Given the description of an element on the screen output the (x, y) to click on. 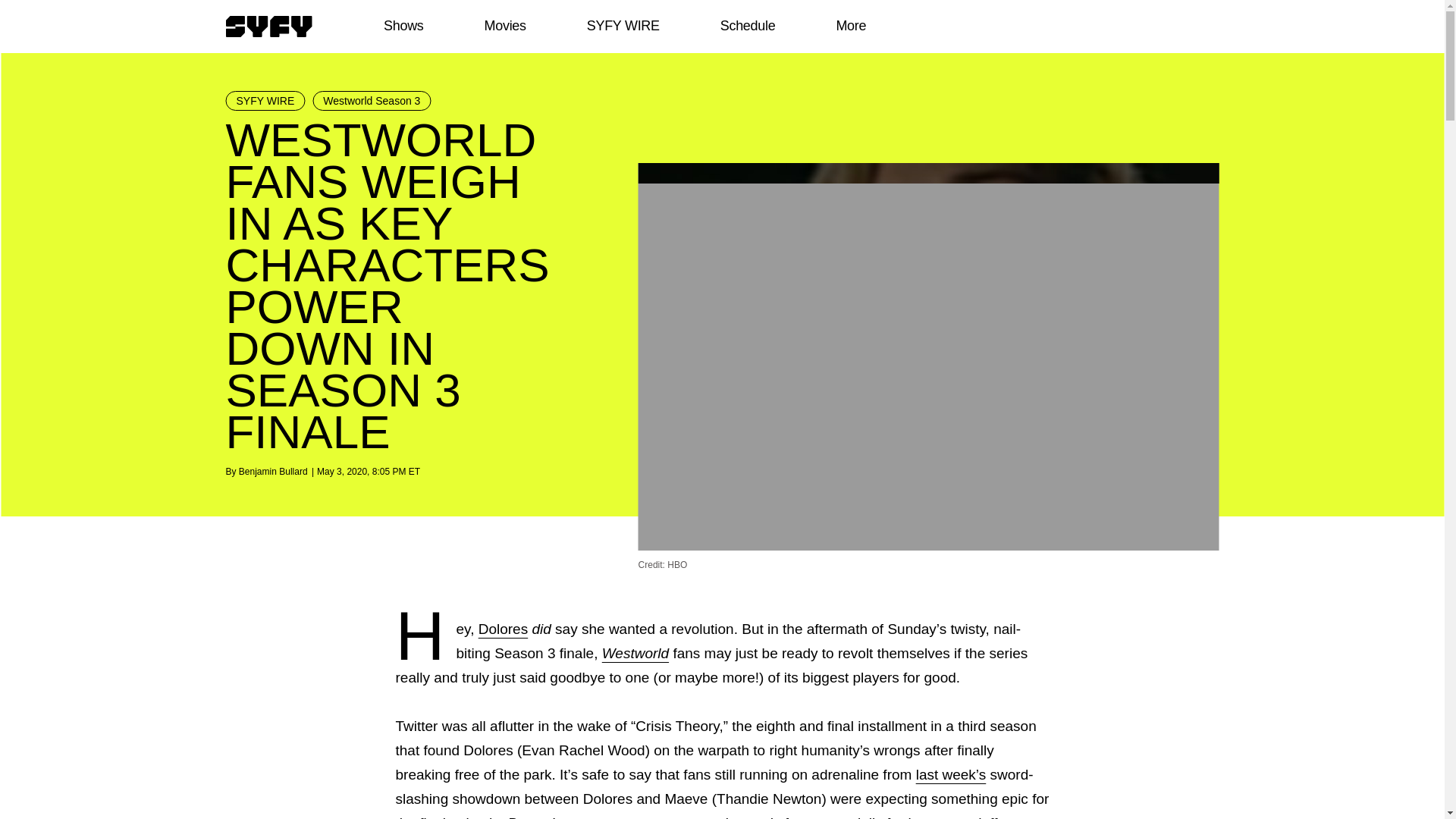
Schedule (746, 26)
Shows (403, 26)
More (850, 26)
Benjamin Bullard (272, 471)
Dolores (503, 628)
SYFY WIRE (265, 100)
SYFY WIRE (622, 26)
Westworld (635, 652)
Movies (504, 26)
Westworld Season 3 (371, 100)
